Given the description of an element on the screen output the (x, y) to click on. 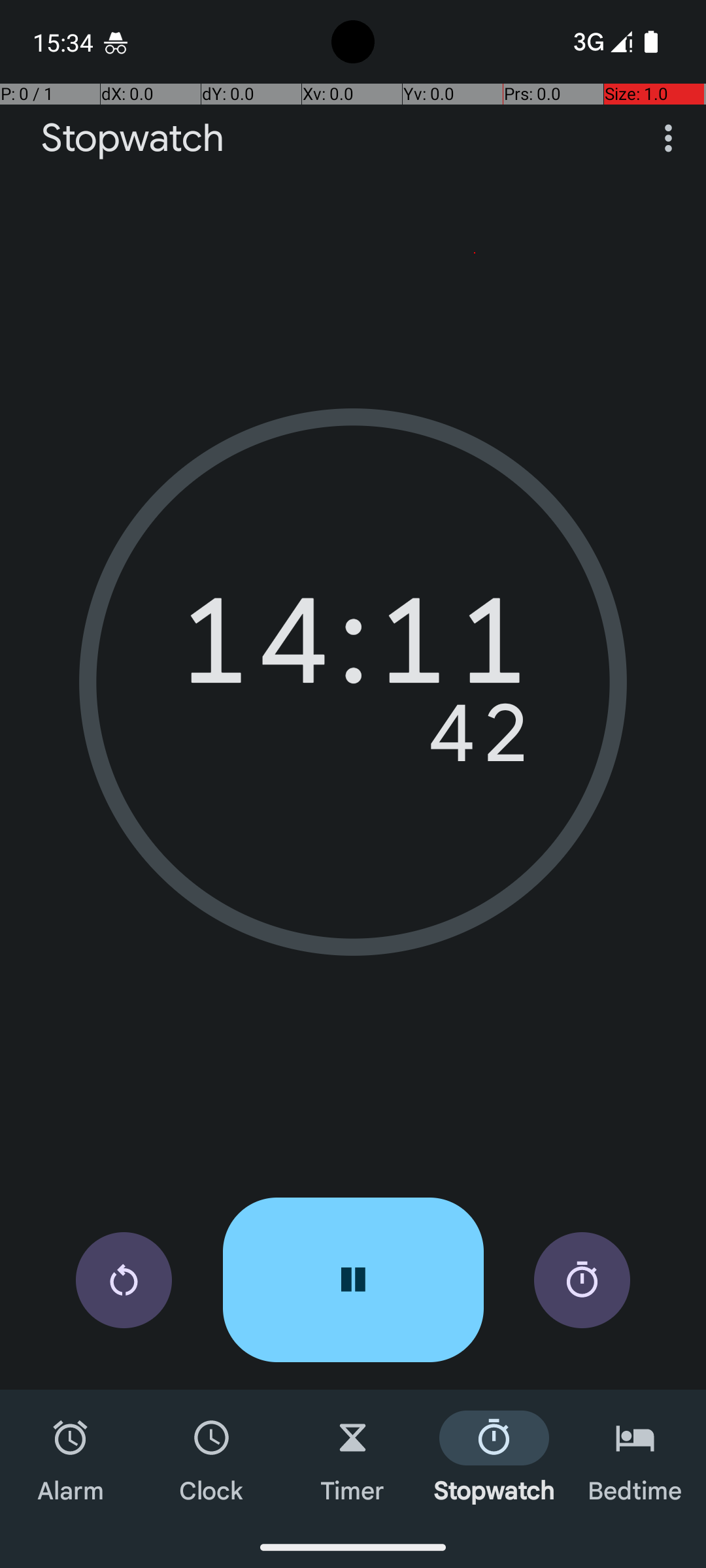
14:08 Element type: android.widget.TextView (352, 650)
